Given the description of an element on the screen output the (x, y) to click on. 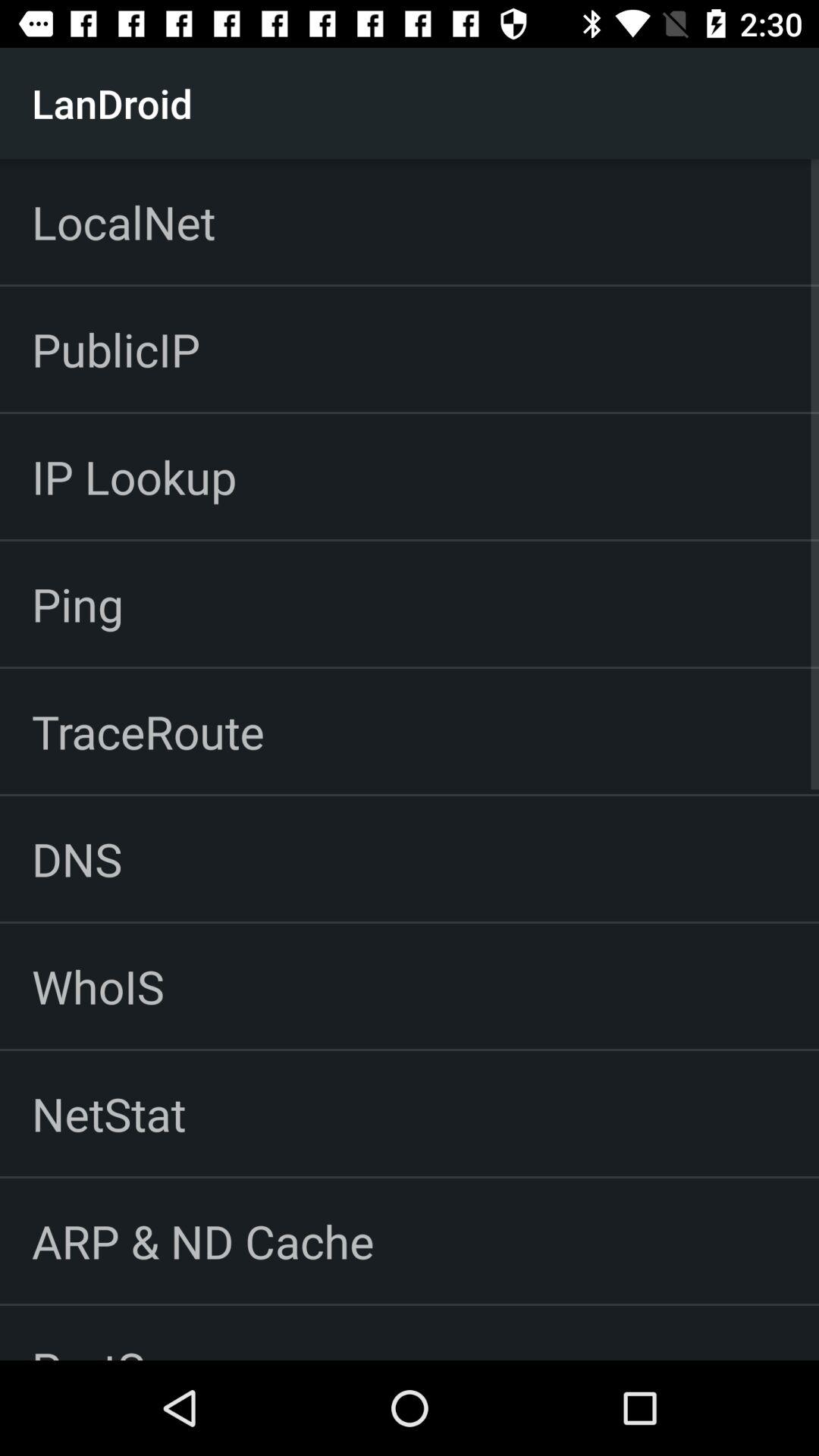
choose the icon below the traceroute item (77, 858)
